Given the description of an element on the screen output the (x, y) to click on. 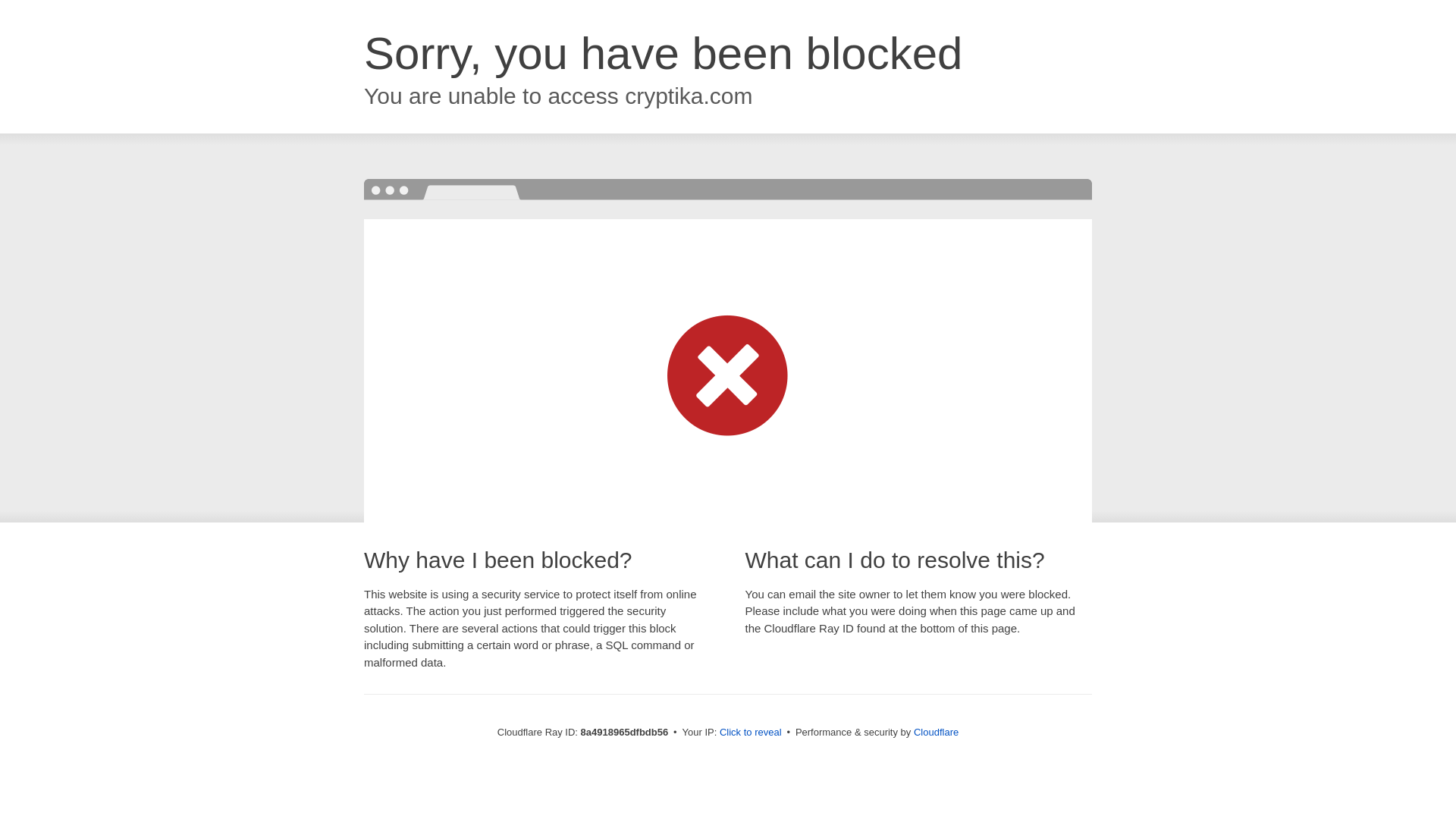
Click to reveal (750, 732)
Cloudflare (936, 731)
